Given the description of an element on the screen output the (x, y) to click on. 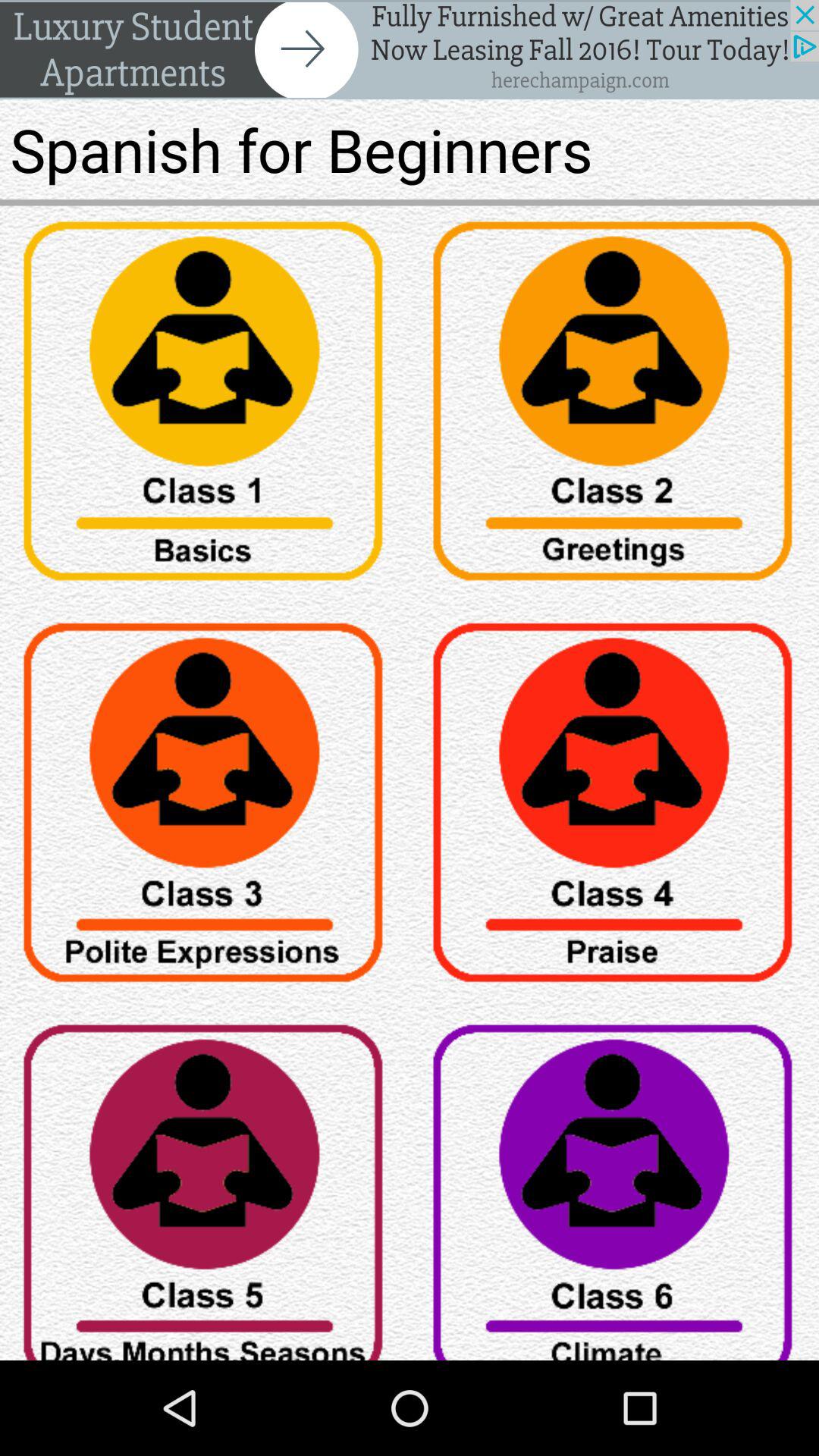
police man page (204, 807)
